Given the description of an element on the screen output the (x, y) to click on. 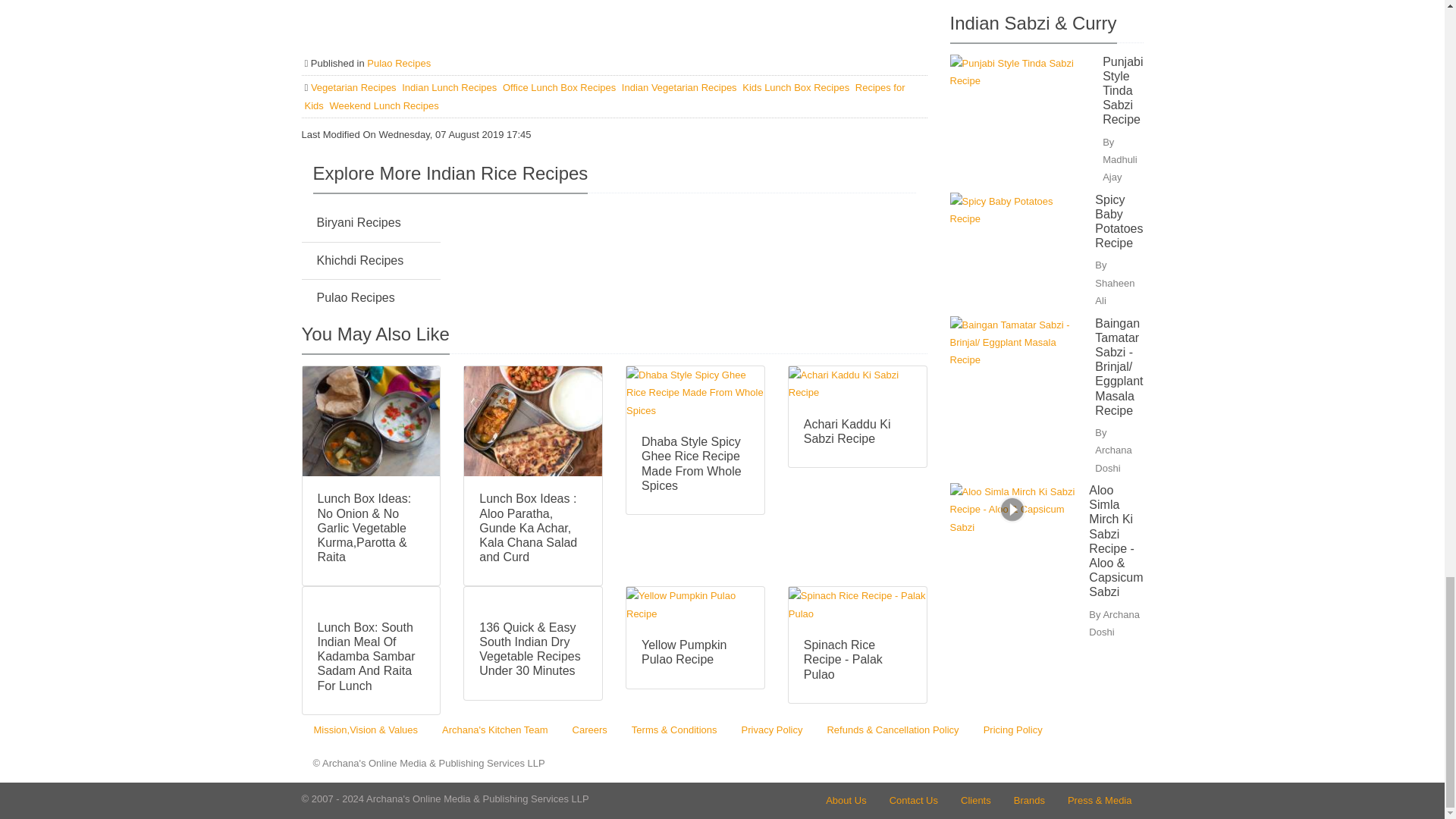
Weekend Lunch Recipes (383, 105)
Khichdi Recipes (360, 259)
Biryani Recipes (359, 222)
Indian Vegetarian Recipes (680, 87)
Indian Lunch Recipes (450, 87)
Pulao Recipes (355, 297)
Recipes for Kids (604, 95)
Pulao Recipes (398, 62)
Kids Lunch Box Recipes (796, 87)
Office Lunch Box Recipes (560, 87)
Vegetarian Recipes (354, 87)
